Given the description of an element on the screen output the (x, y) to click on. 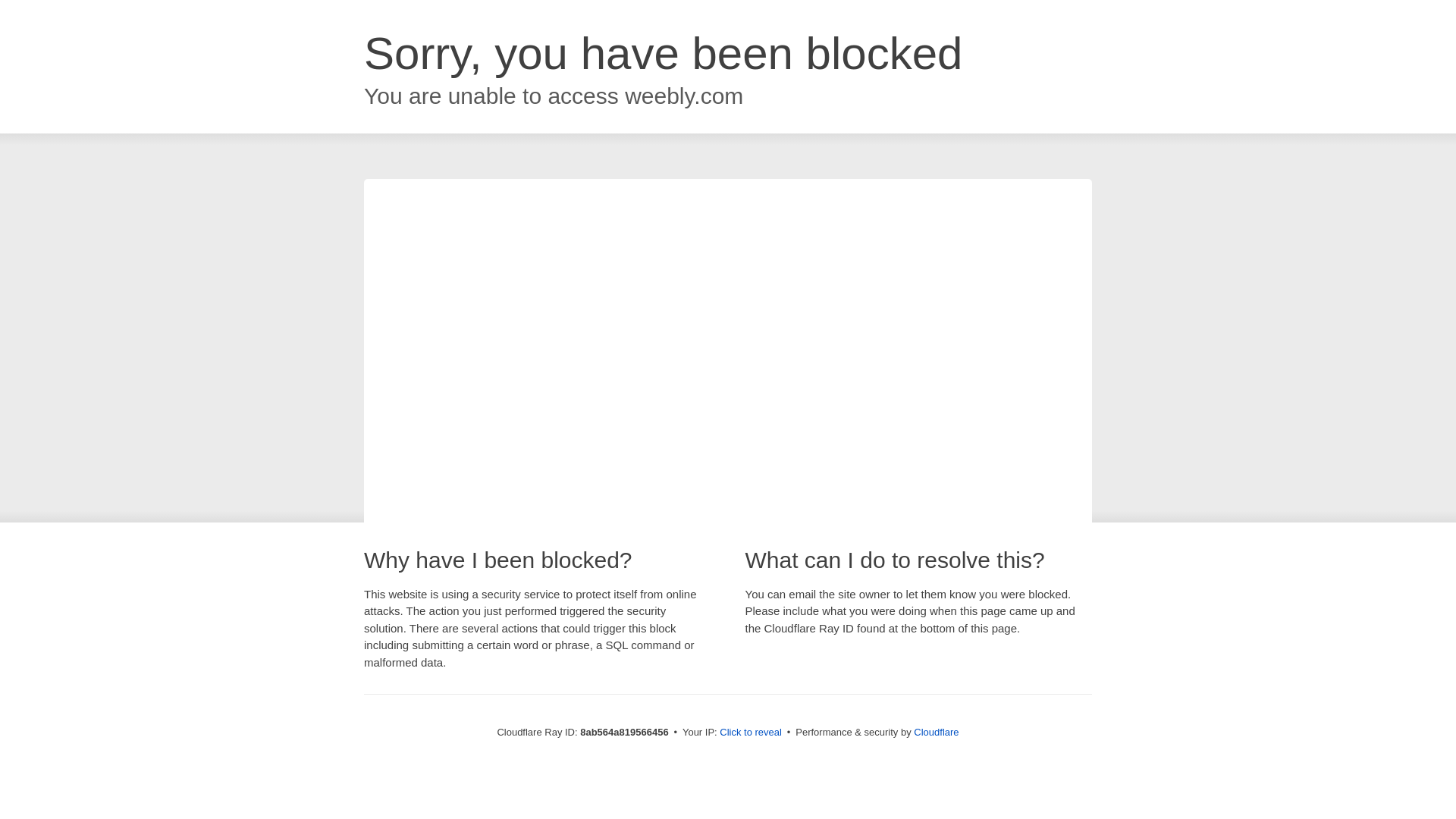
Click to reveal (750, 732)
Cloudflare (936, 731)
